Given the description of an element on the screen output the (x, y) to click on. 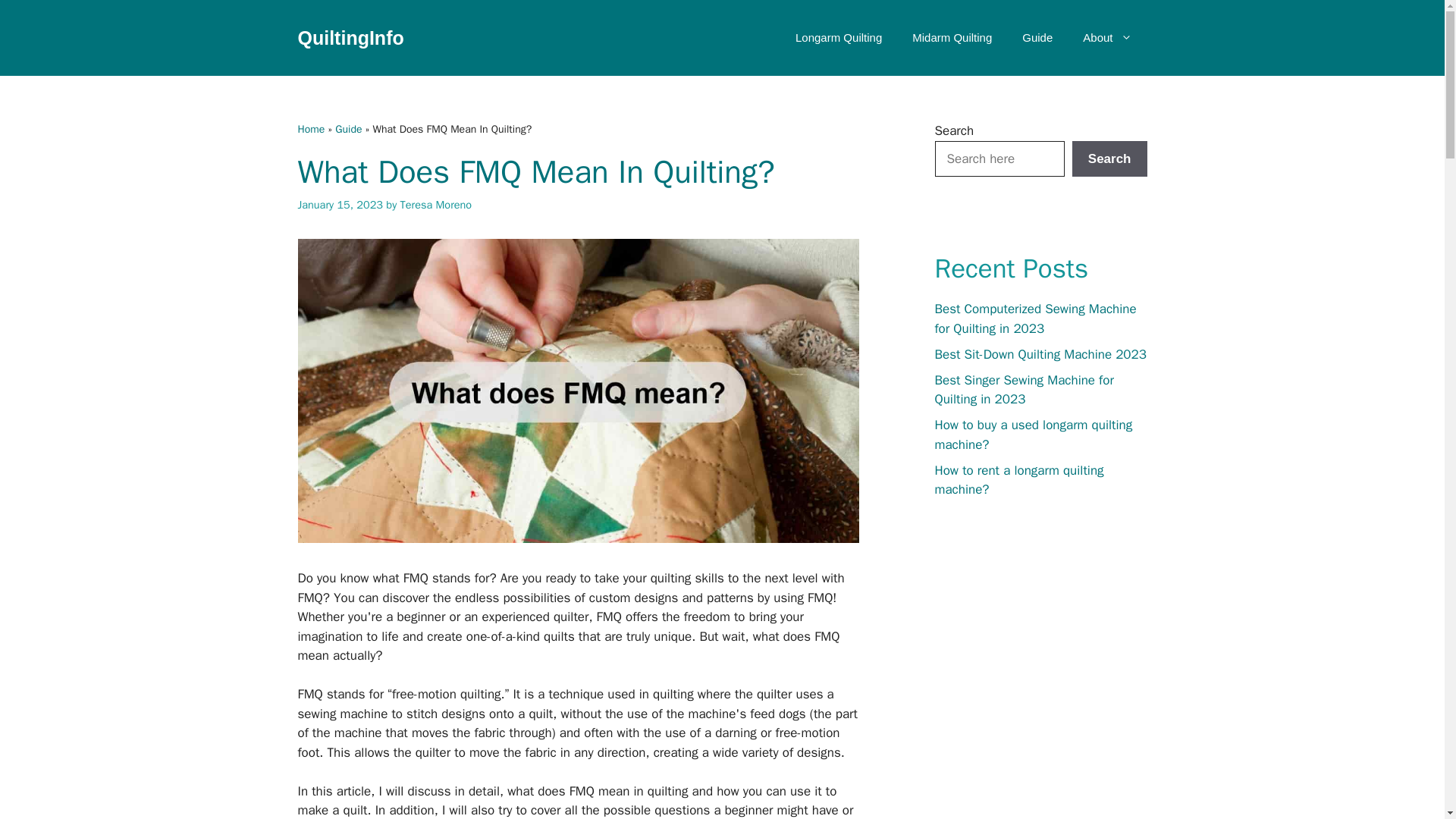
View all posts by Teresa Moreno (435, 204)
Longarm Quilting (838, 37)
Guide (1037, 37)
Guide (347, 128)
QuiltingInfo (350, 37)
Home (310, 128)
About (1107, 37)
Midarm Quilting (951, 37)
Teresa Moreno (435, 204)
